Given the description of an element on the screen output the (x, y) to click on. 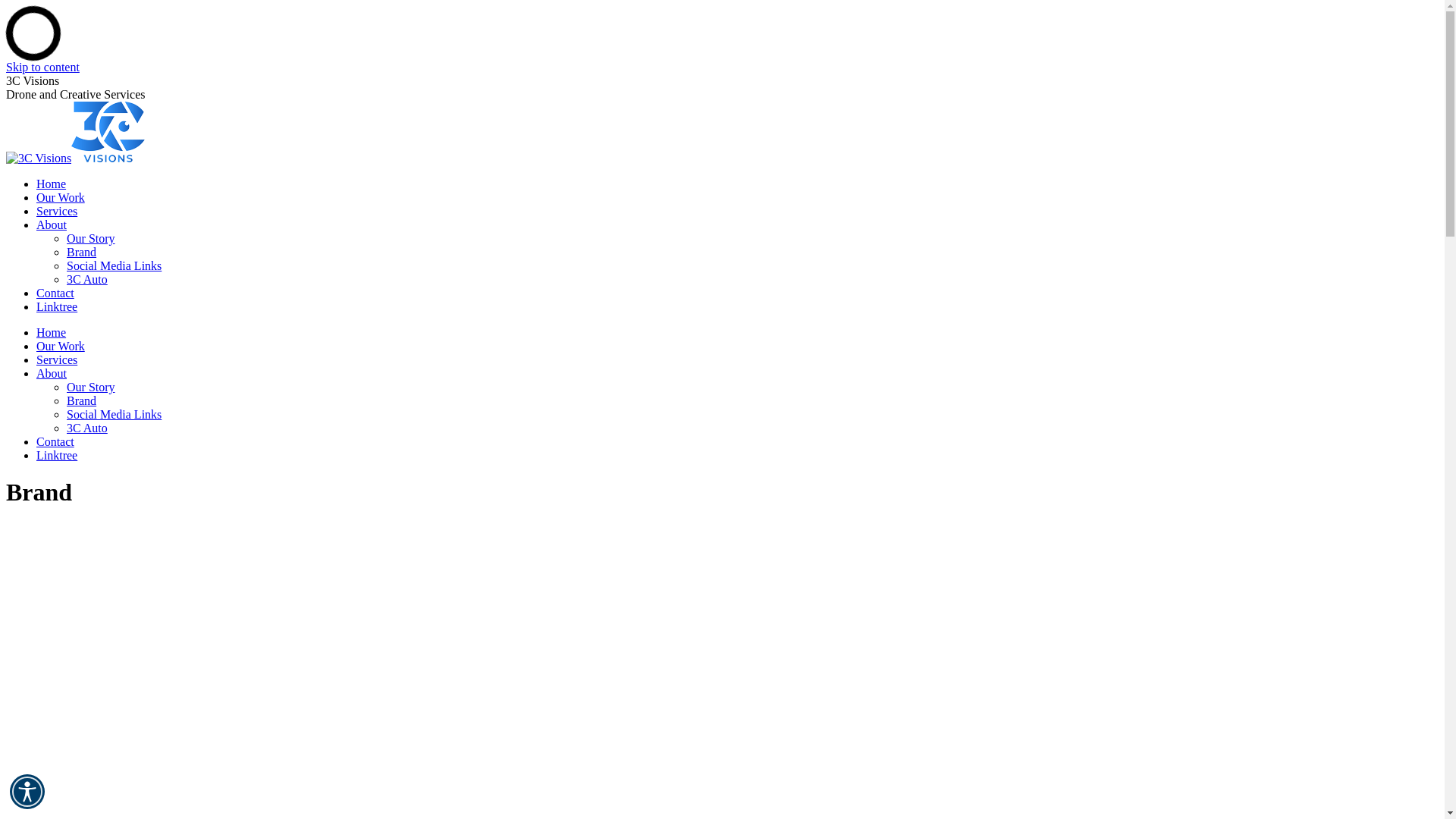
Linktree Element type: text (56, 306)
3C Auto Element type: text (86, 279)
Home Element type: text (50, 183)
Brand Element type: text (81, 251)
Skip to content Element type: text (42, 66)
Home Element type: text (50, 332)
Our Story Element type: text (90, 238)
About Element type: text (51, 373)
Our Story Element type: text (90, 386)
Services Element type: text (56, 210)
Services Element type: text (56, 359)
3C Auto Element type: text (86, 427)
Brand Element type: text (81, 400)
Social Media Links Element type: text (113, 413)
Linktree Element type: text (56, 454)
Our Work Element type: text (60, 197)
Contact Element type: text (55, 292)
About Element type: text (51, 224)
Social Media Links Element type: text (113, 265)
Our Work Element type: text (60, 345)
Contact Element type: text (55, 441)
